Given the description of an element on the screen output the (x, y) to click on. 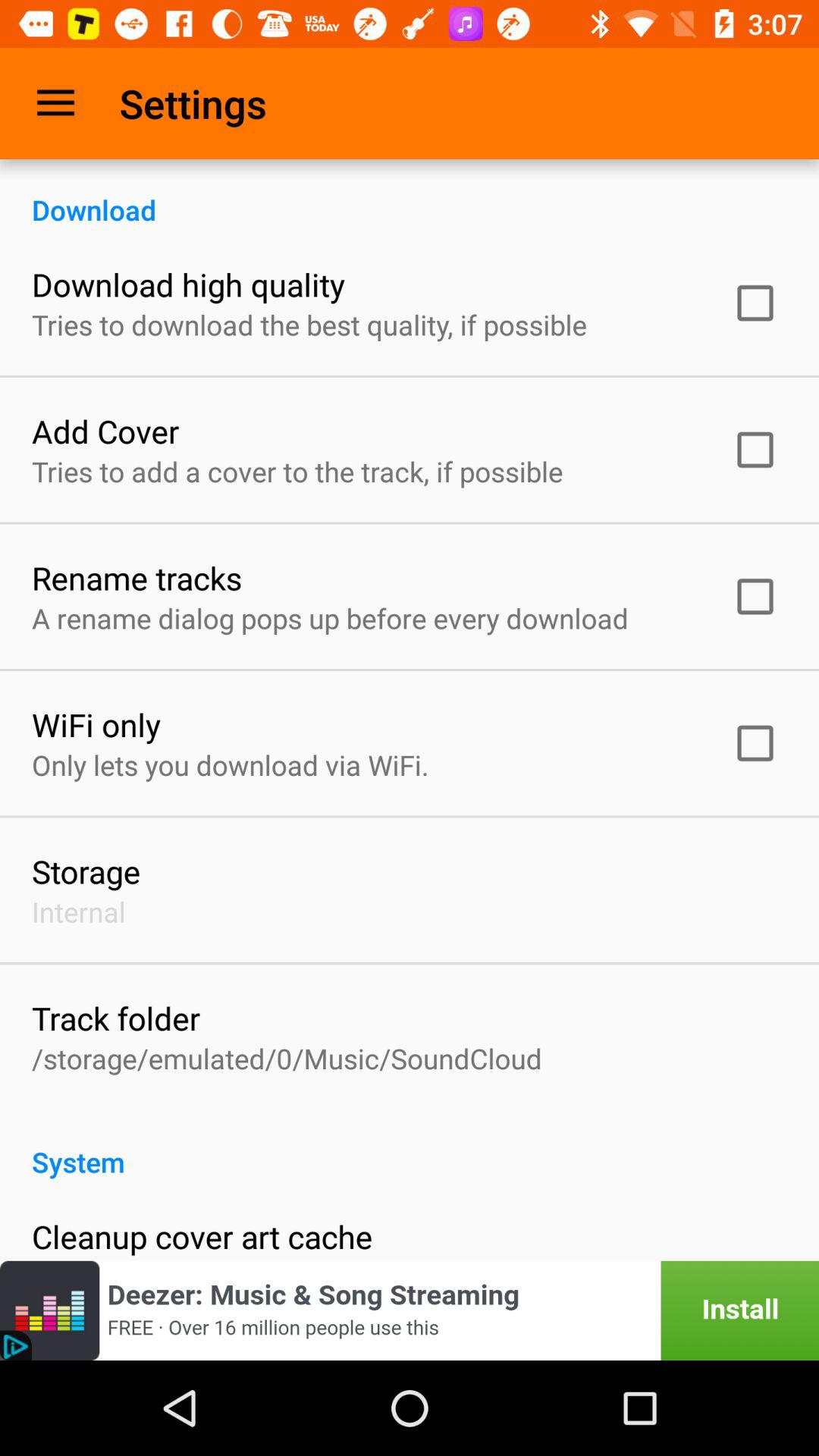
turn off icon below storage emulated 0 item (409, 1145)
